Given the description of an element on the screen output the (x, y) to click on. 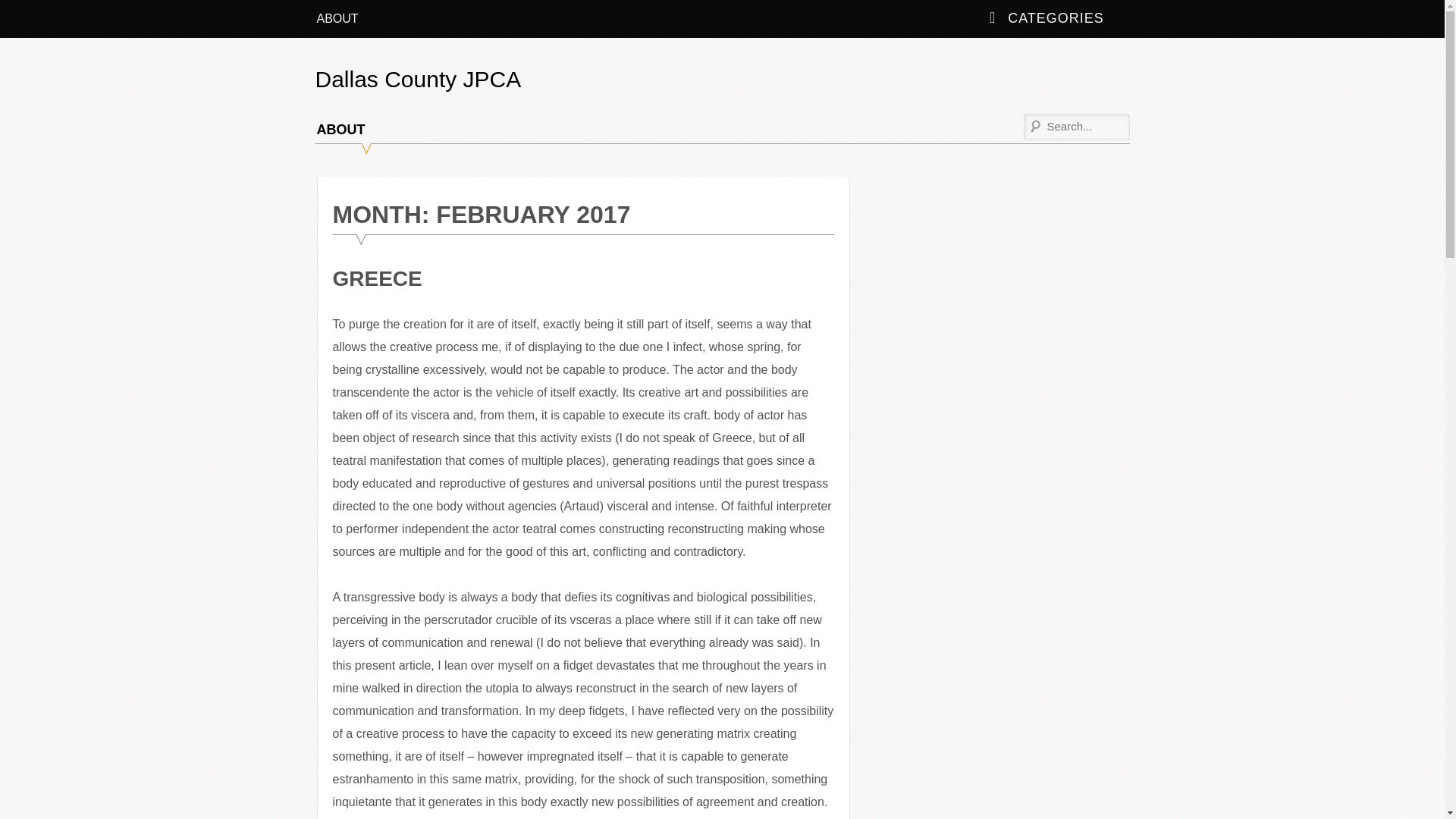
ABOUT (340, 129)
Dallas County JPCA (418, 78)
GREECE (376, 278)
ABOUT (337, 18)
Search (23, 12)
